Given the description of an element on the screen output the (x, y) to click on. 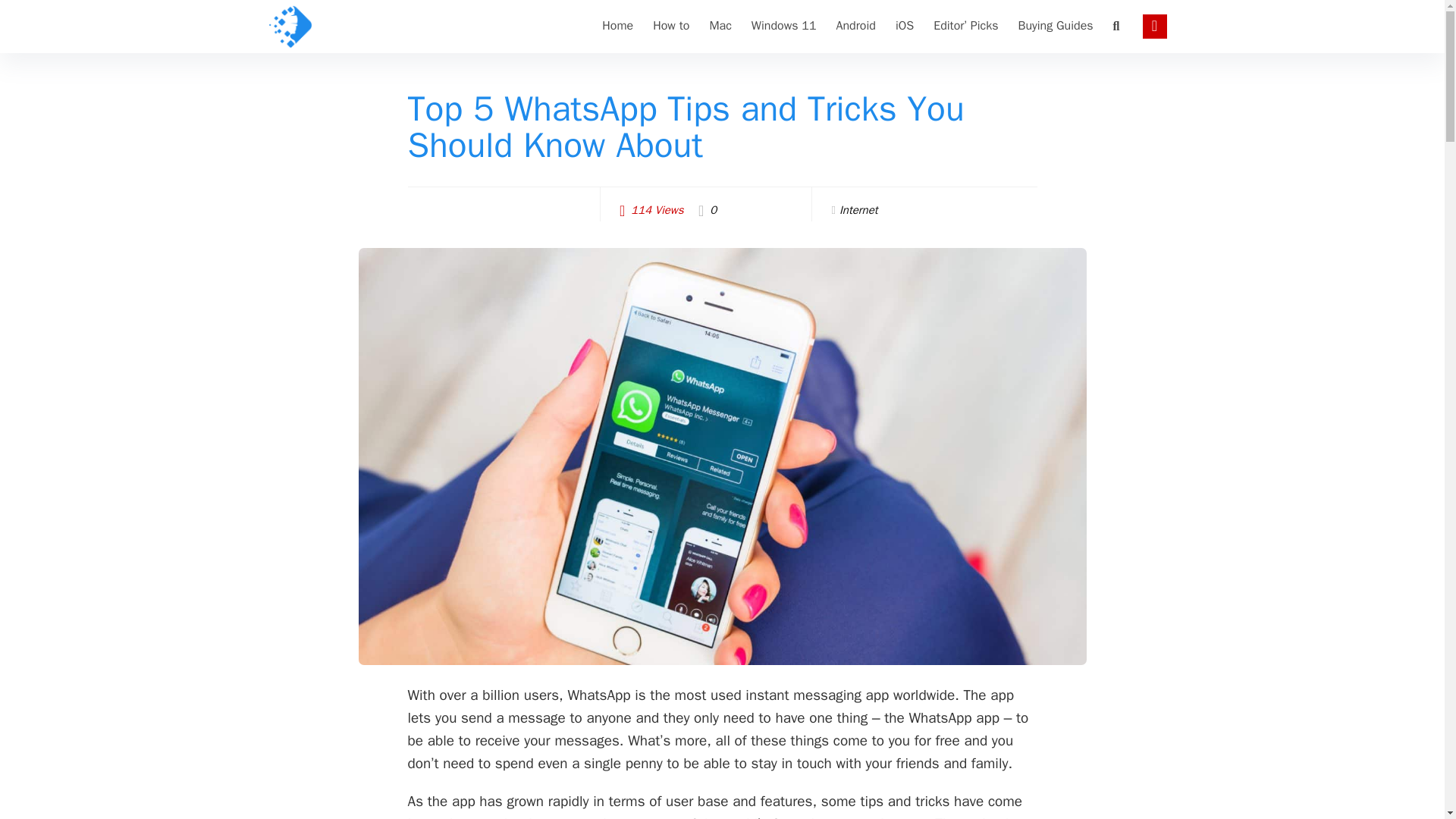
iOS (904, 26)
View all posts in Internet (858, 210)
Android (856, 26)
Buying Guides (1056, 26)
How to (670, 26)
Internet (858, 210)
Windows 11 (784, 26)
Mac (719, 26)
Home (617, 26)
